Given the description of an element on the screen output the (x, y) to click on. 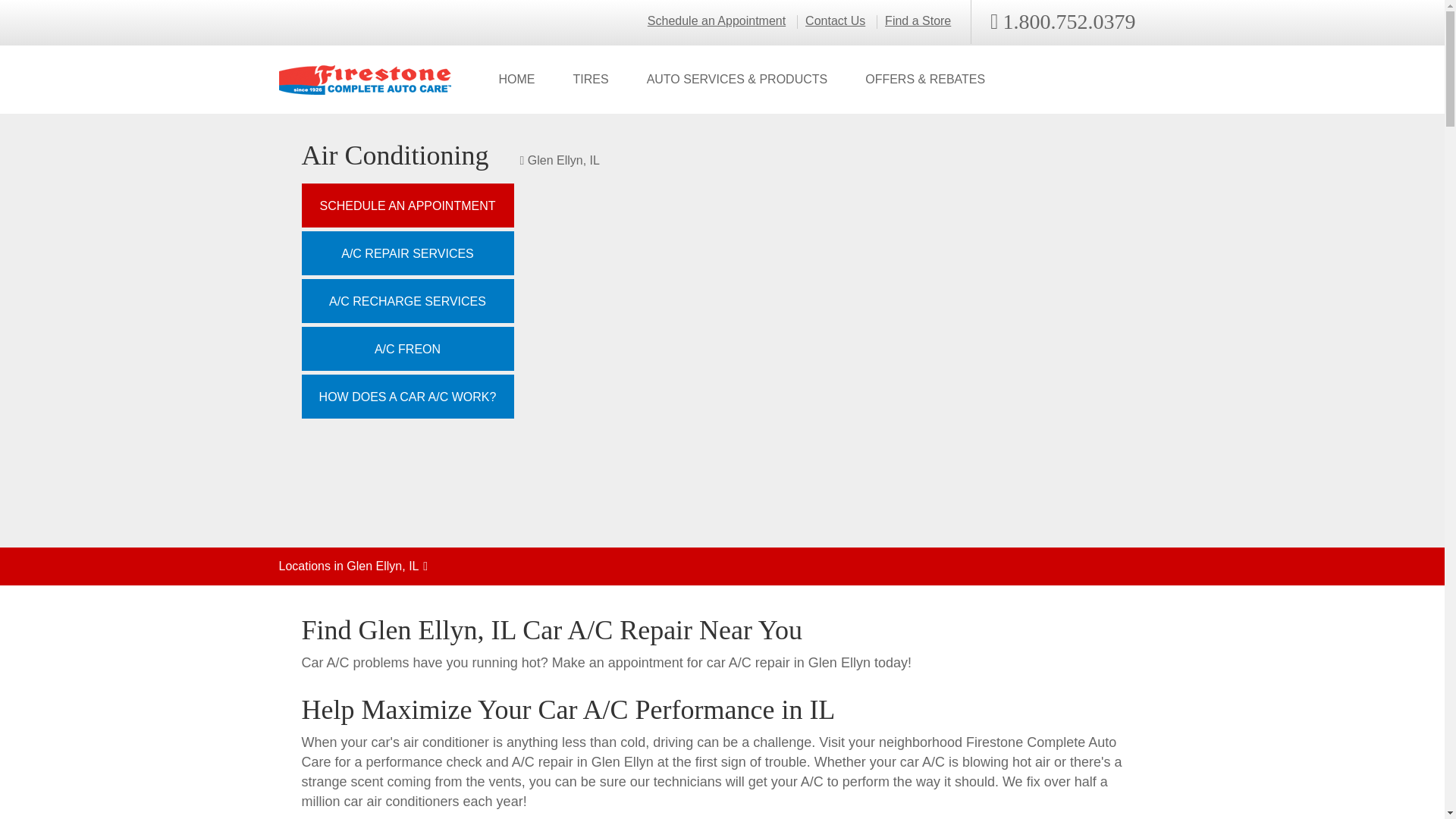
TIRES (590, 79)
1.800.752.0379 (1062, 22)
Schedule an Appointment (716, 20)
HOME (516, 79)
SCHEDULE AN APPOINTMENT (407, 205)
Locations in Glen Ellyn, IL (722, 566)
Firestone Complete Auto Care (365, 80)
Contact Us (834, 20)
Find a Store (918, 20)
